Given the description of an element on the screen output the (x, y) to click on. 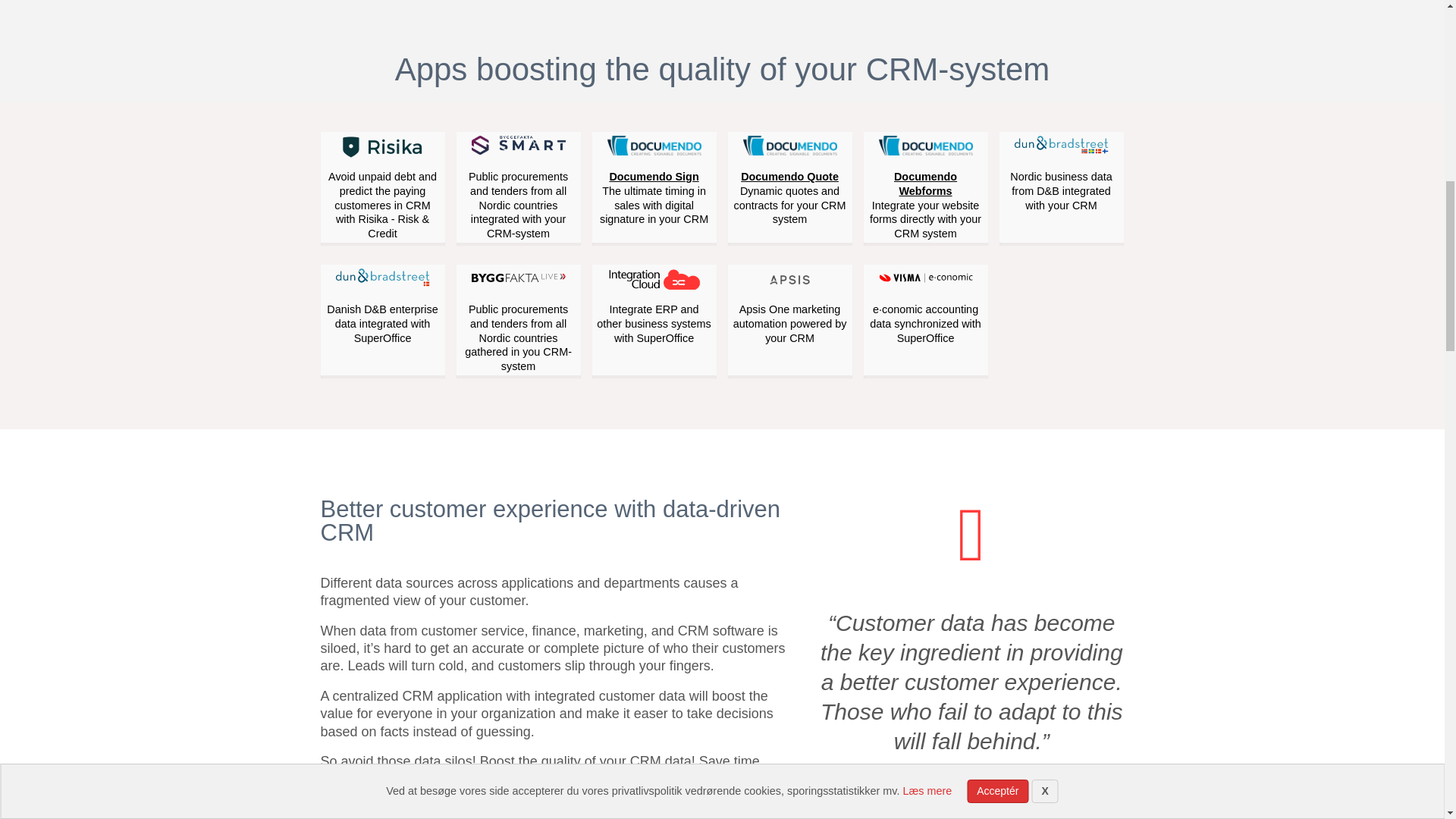
Apsis One marketing automation powered by your CRM (788, 306)
Integrate ERP and other business systems with SuperOffice (654, 306)
